Given the description of an element on the screen output the (x, y) to click on. 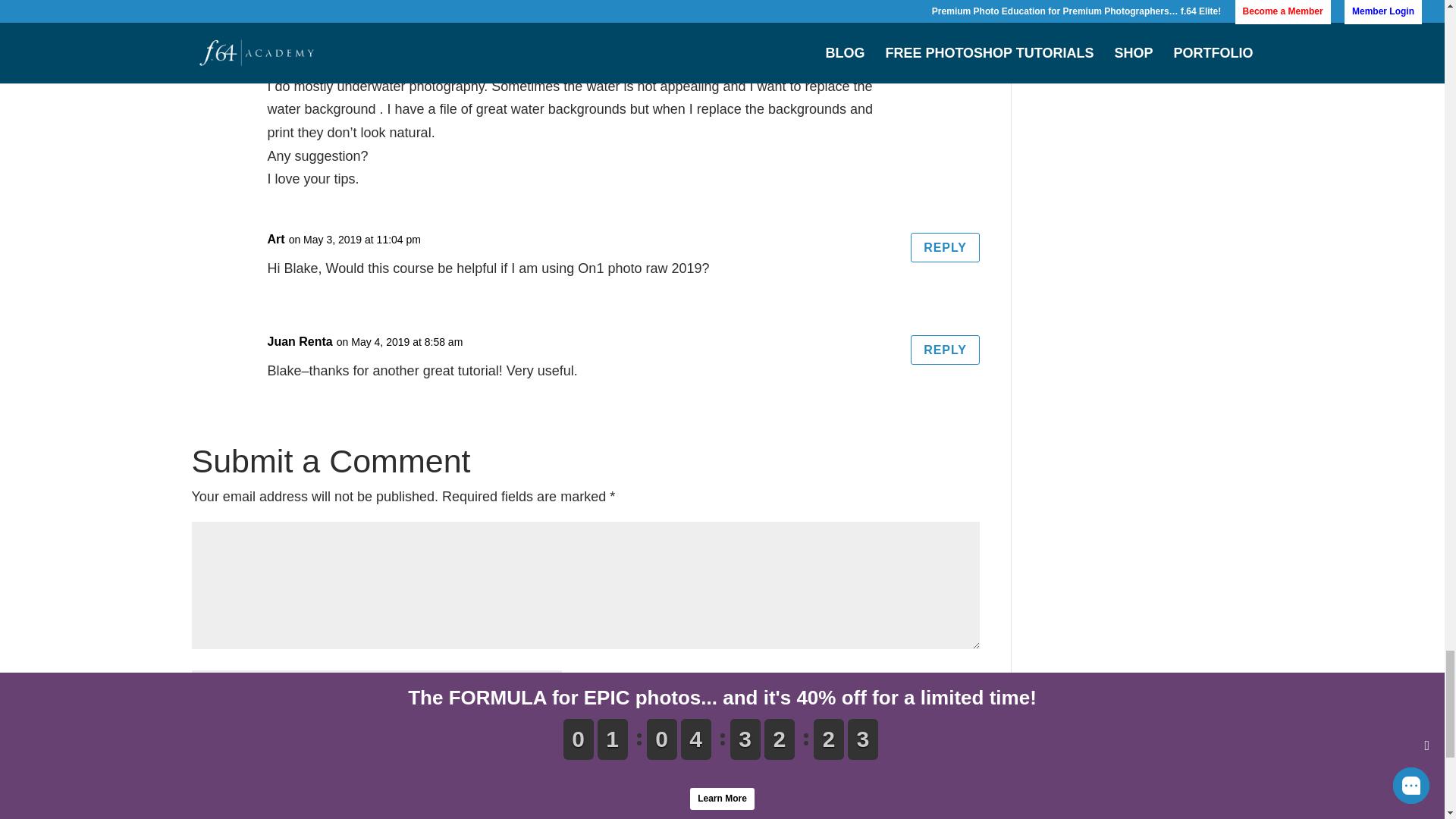
Submit Comment (905, 816)
REPLY (945, 64)
REPLY (945, 349)
REPLY (945, 247)
Submit Comment (905, 816)
